Given the description of an element on the screen output the (x, y) to click on. 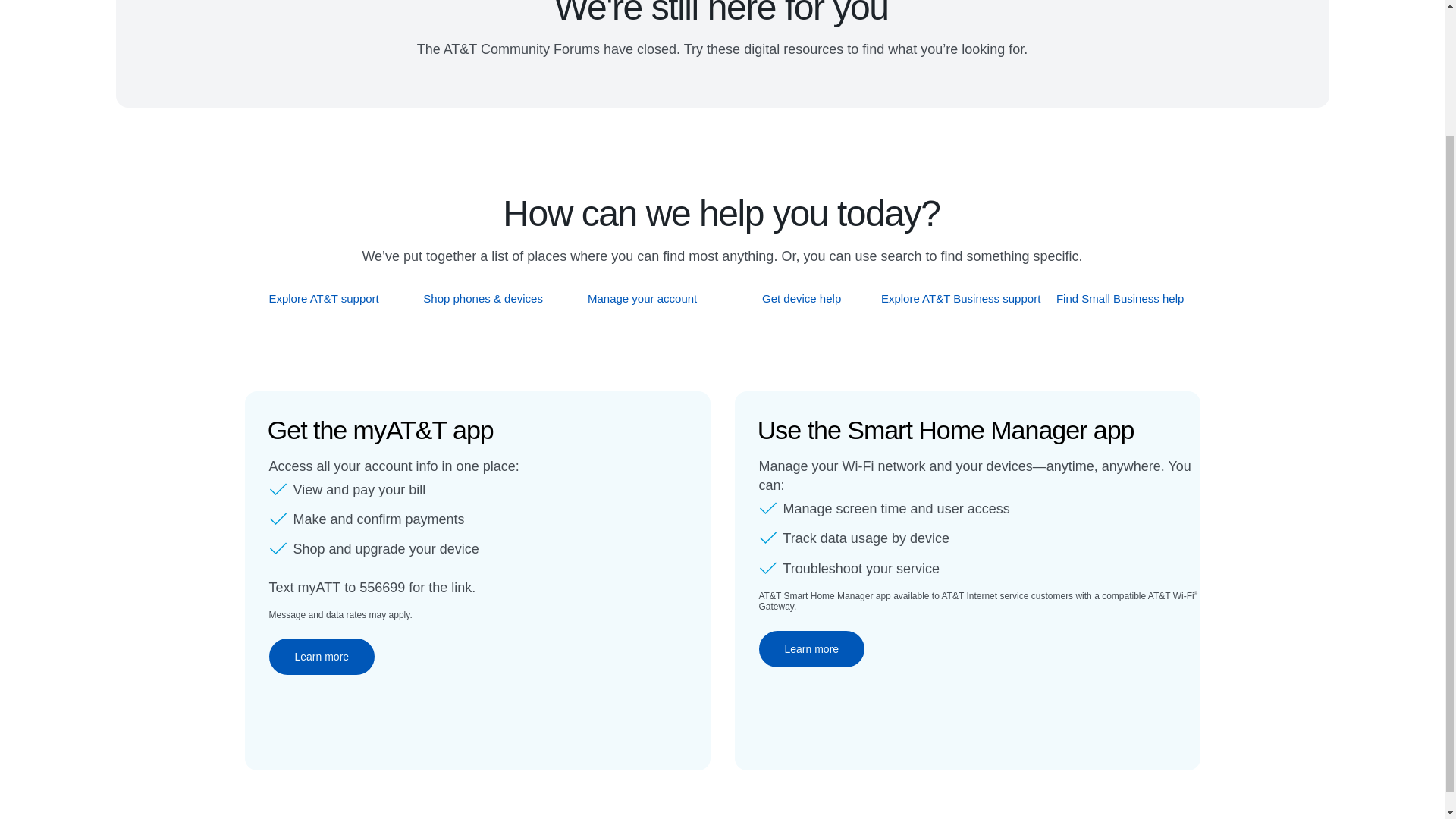
Learn more (320, 656)
Learn more (811, 648)
Get device help (801, 298)
Find Small Business help (1121, 298)
Manage your account (642, 298)
